Given the description of an element on the screen output the (x, y) to click on. 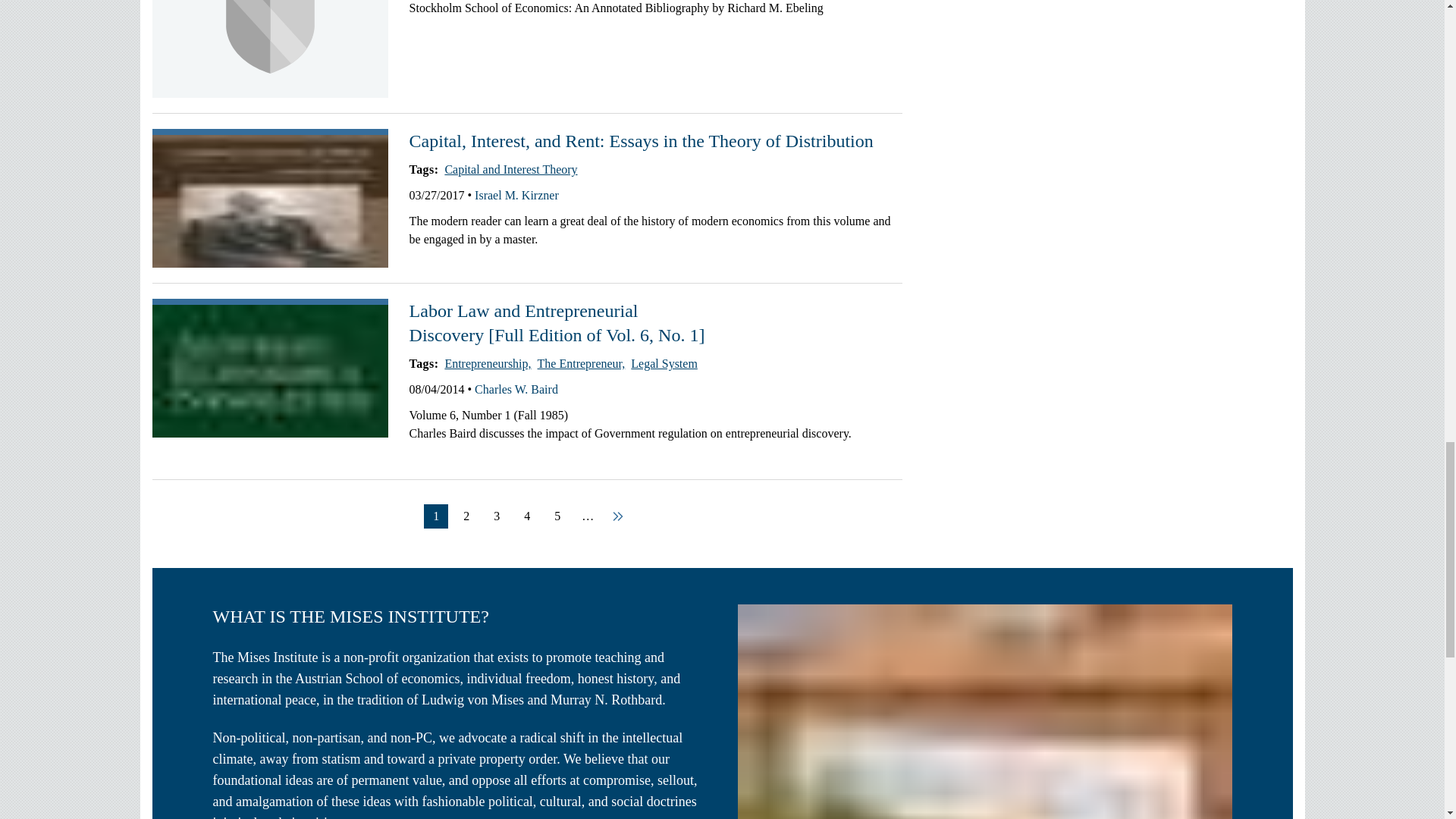
Go to page 2 (466, 516)
Go to next page (617, 516)
Go to page 4 (526, 516)
Go to page 5 (556, 516)
Go to page 3 (496, 516)
